Given the description of an element on the screen output the (x, y) to click on. 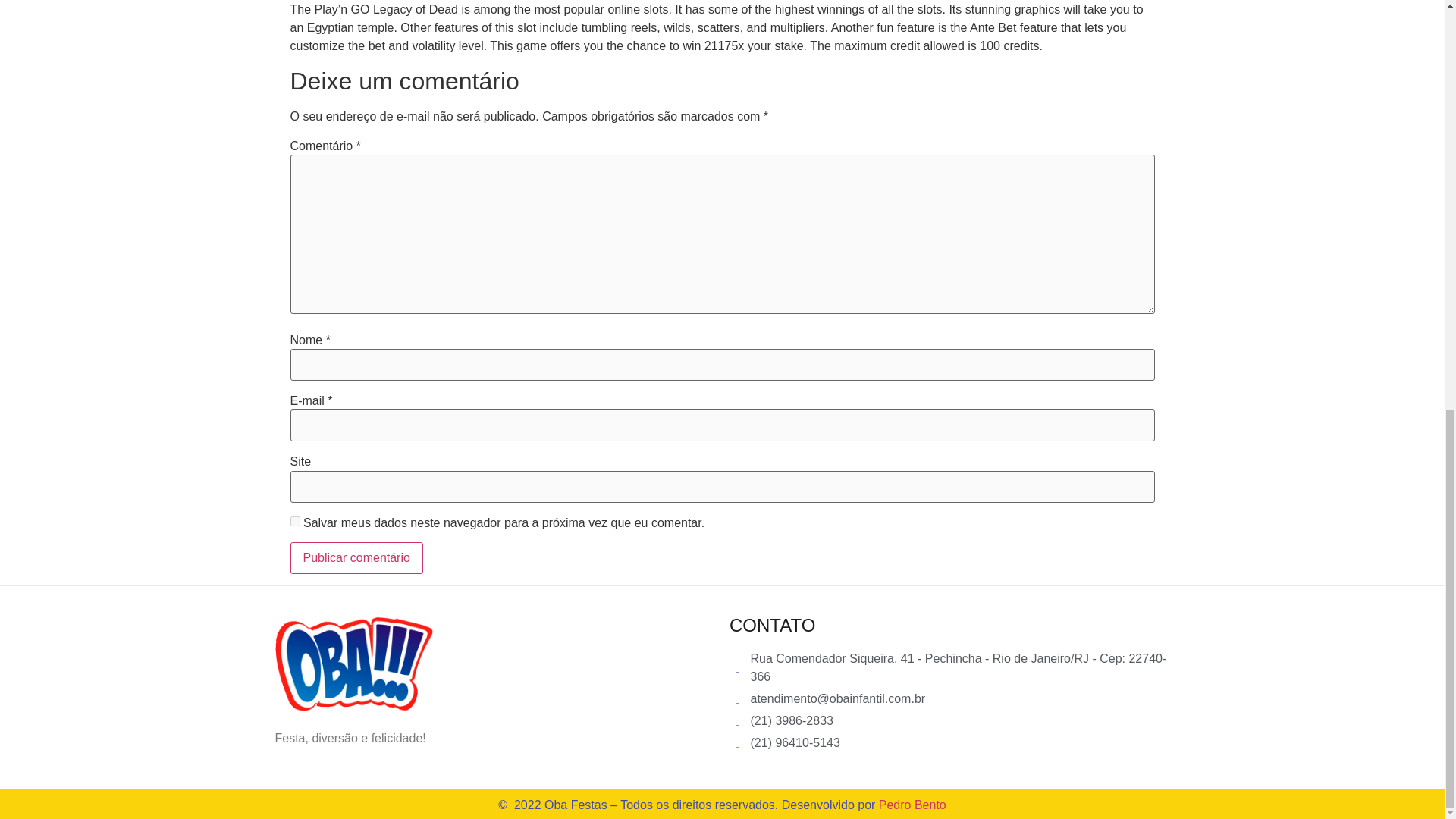
yes (294, 521)
Pedro Bento (912, 804)
